Given the description of an element on the screen output the (x, y) to click on. 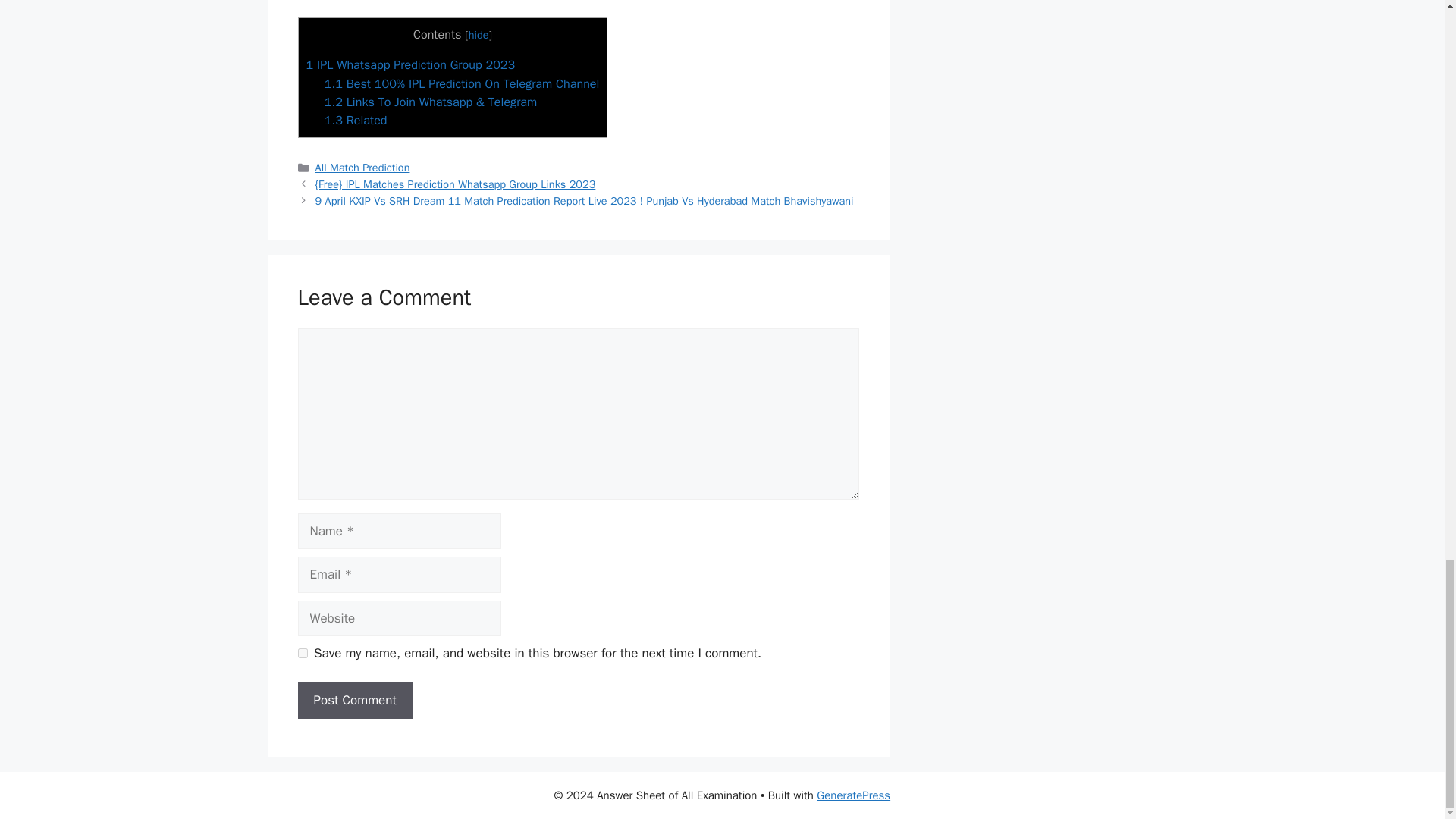
1 IPL Whatsapp Prediction Group 2023 (410, 64)
Post Comment (354, 700)
All Match Prediction (362, 167)
hide (478, 34)
Post Comment (354, 700)
yes (302, 653)
1.3 Related (355, 119)
